Given the description of an element on the screen output the (x, y) to click on. 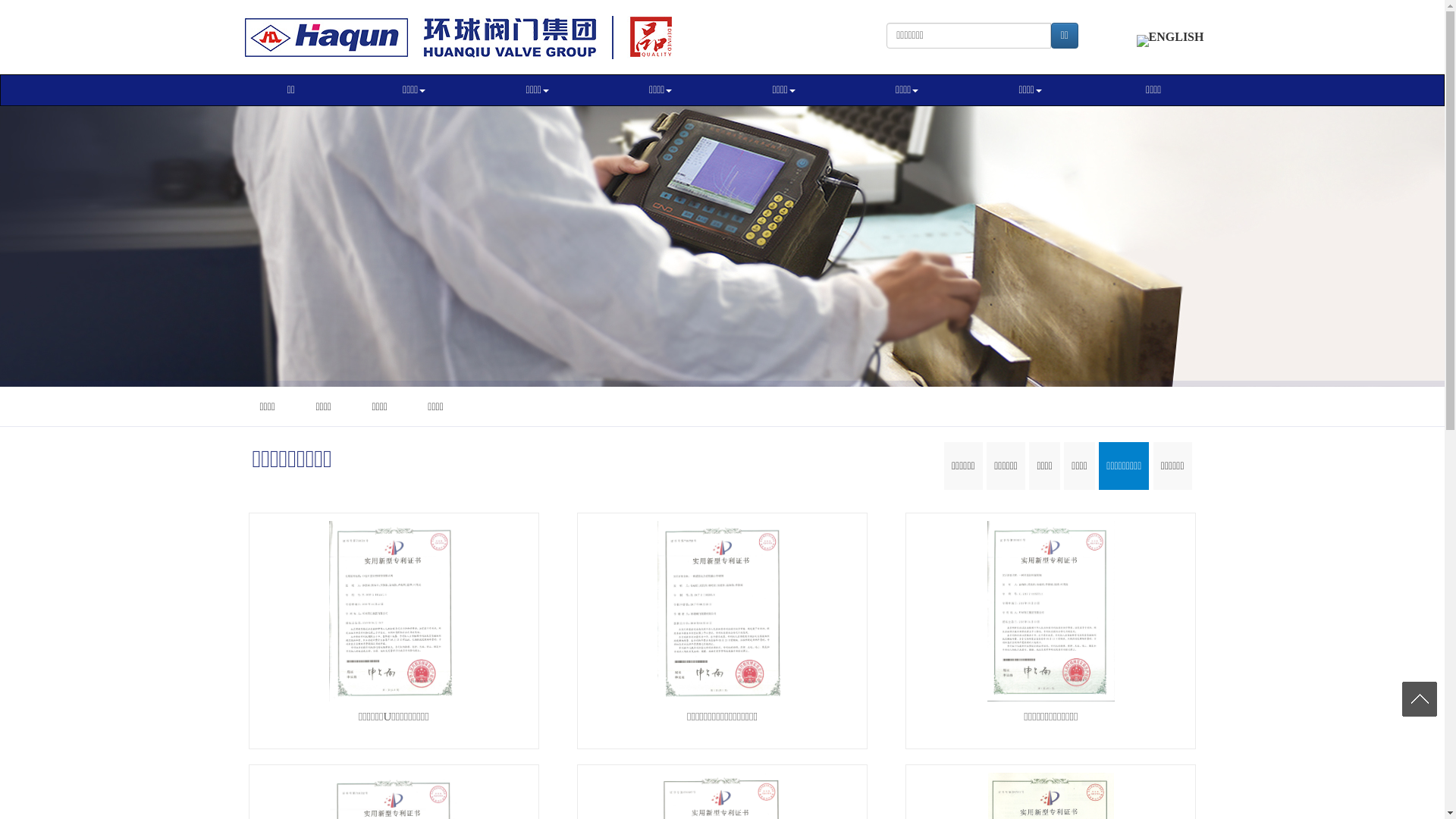
ENGLISH Element type: text (1170, 36)
